Given the description of an element on the screen output the (x, y) to click on. 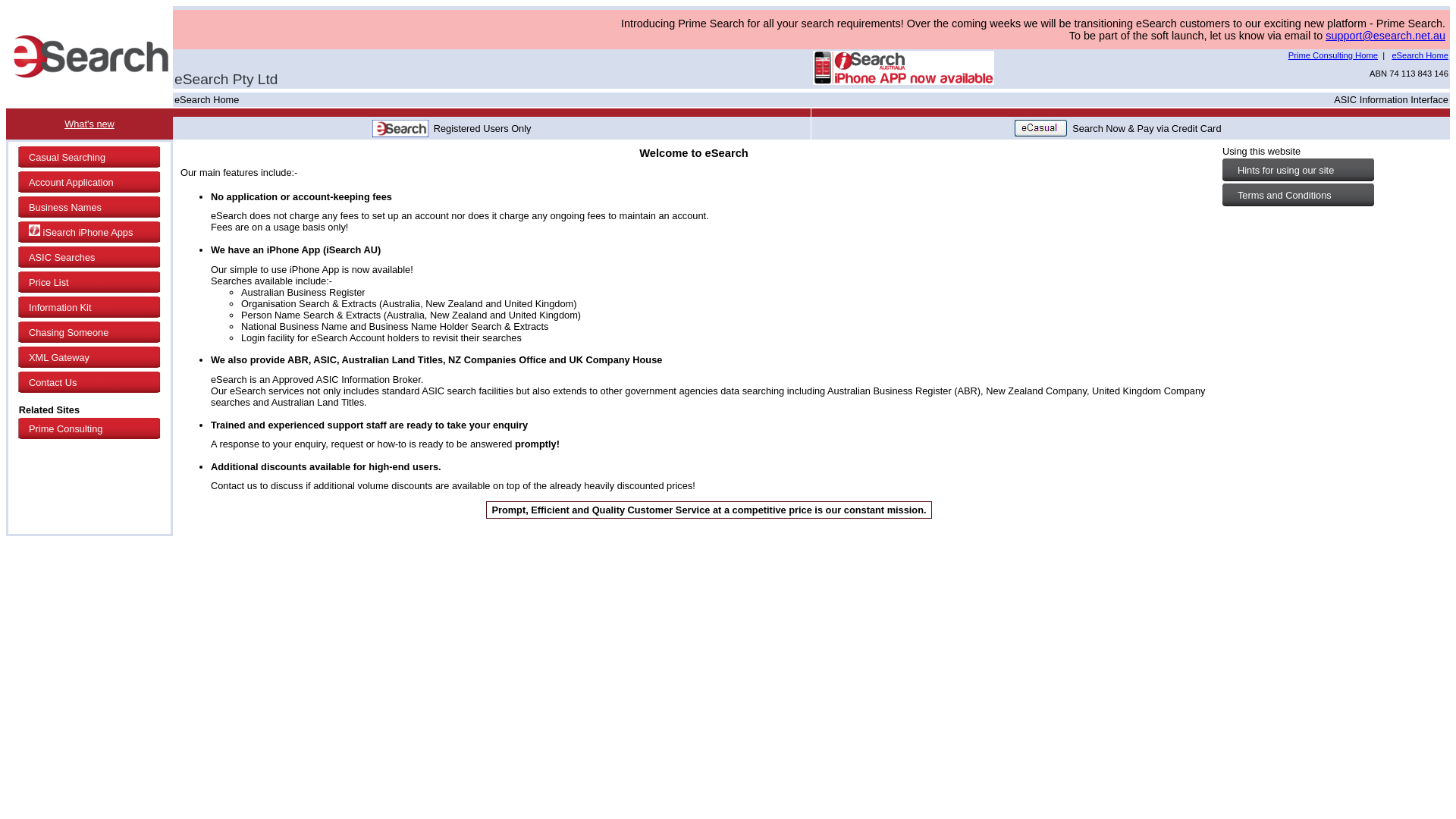
Prime Consulting Element type: text (89, 428)
Business Names Element type: text (89, 207)
support@esearch.net.au Element type: text (1385, 35)
Information Kit Element type: text (89, 307)
Account Application Element type: text (89, 182)
eSearch Home Element type: text (1419, 54)
Casual Searching Element type: text (89, 157)
Terms and Conditions Element type: text (1332, 195)
Contact Us Element type: text (89, 382)
Prime Consulting Home Element type: text (1332, 54)
XML Gateway Element type: text (89, 357)
What's new Element type: text (89, 123)
 iSearch iPhone Apps Element type: text (89, 232)
Price List Element type: text (89, 282)
Hints for using our site Element type: text (1332, 170)
ASIC Searches Element type: text (89, 257)
Chasing Someone Element type: text (89, 332)
